Given the description of an element on the screen output the (x, y) to click on. 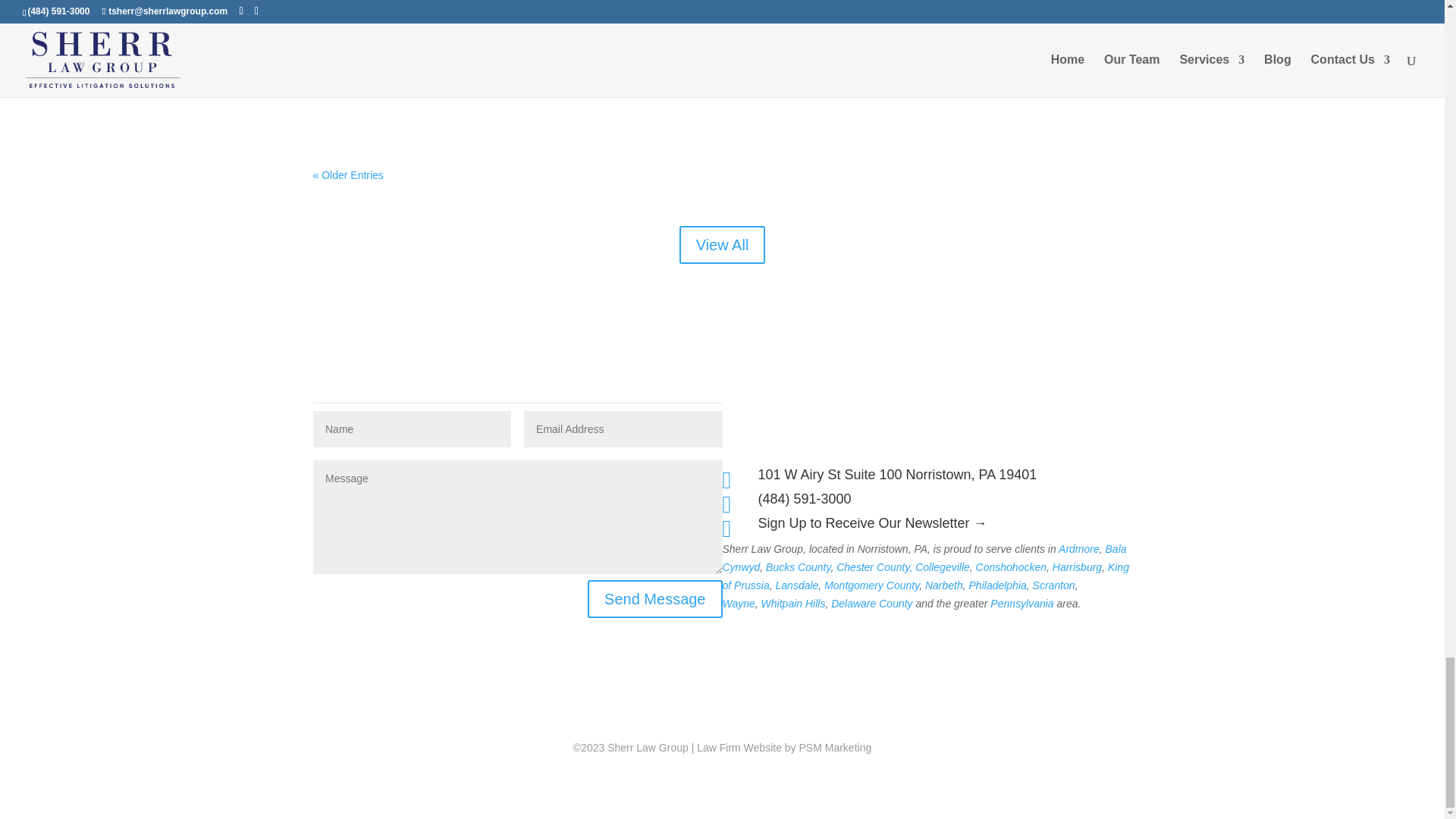
Follow on Facebook (895, 402)
Follow on X (926, 402)
Follow on LinkedIn (956, 402)
